Given the description of an element on the screen output the (x, y) to click on. 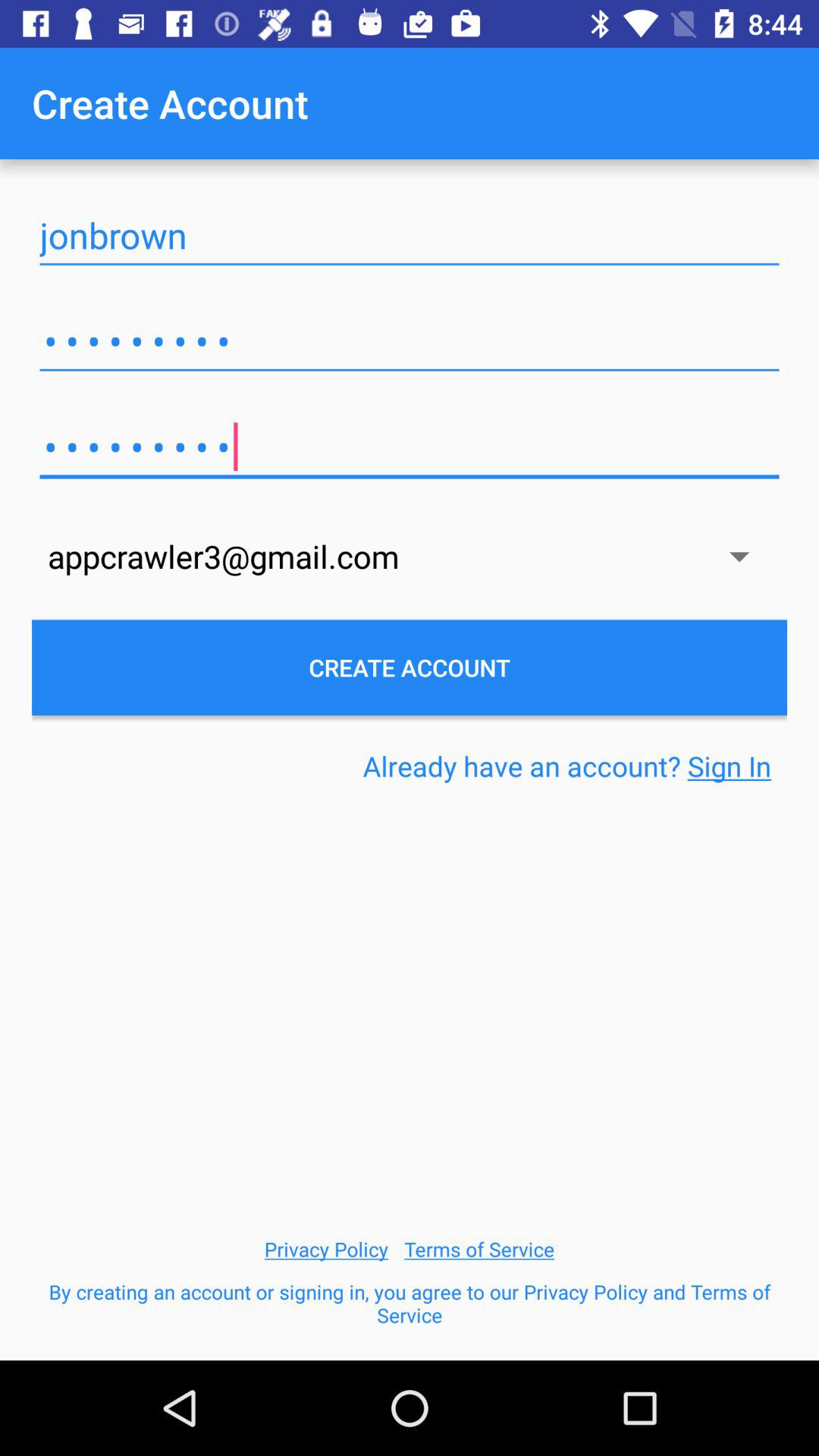
open item below the create account (566, 765)
